Given the description of an element on the screen output the (x, y) to click on. 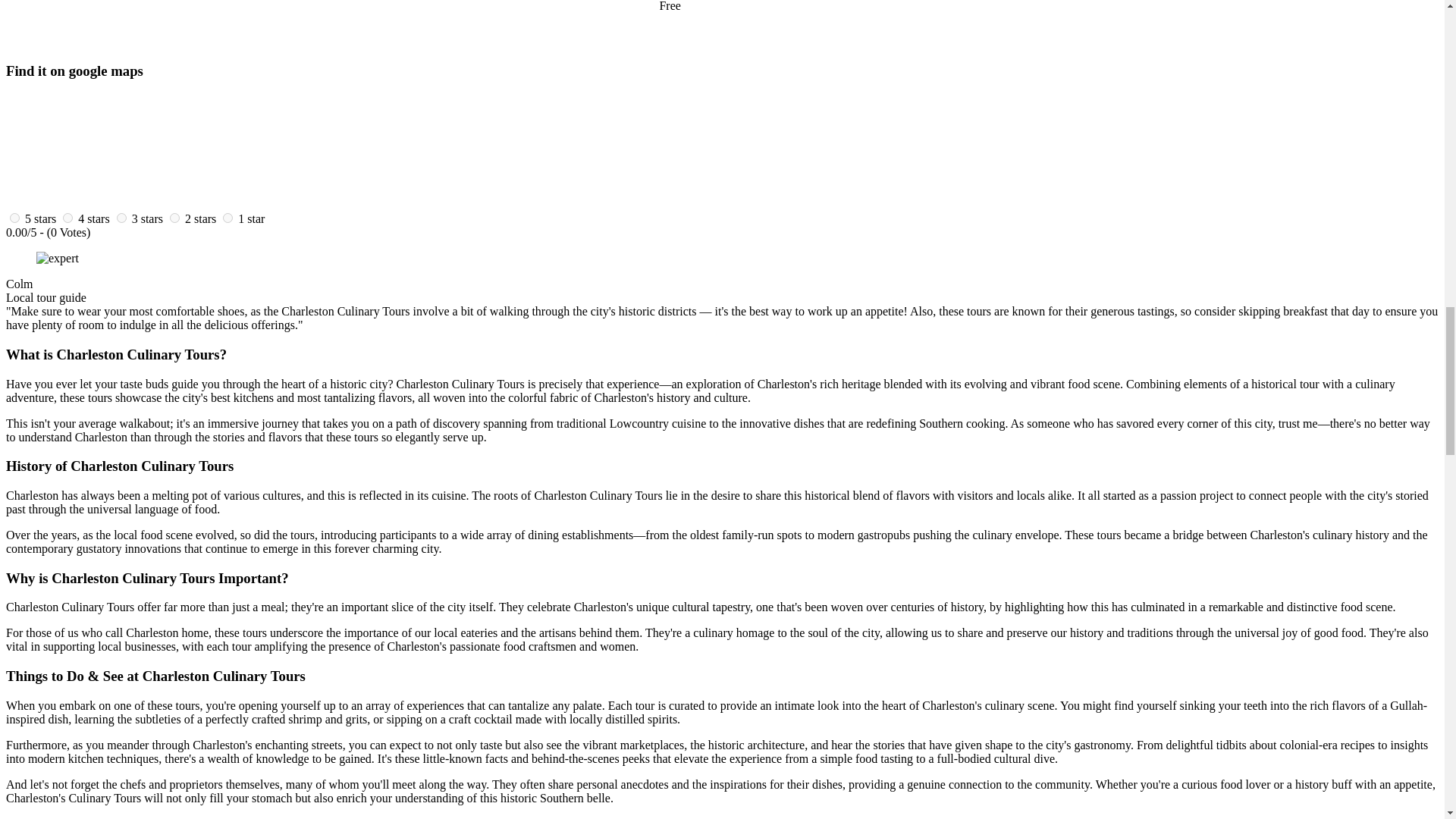
2 (174, 217)
1 stars (251, 218)
5 (15, 217)
4 (67, 217)
5 stars (40, 218)
2 stars (199, 218)
3 stars (147, 218)
3 (121, 217)
1 (227, 217)
4 stars (93, 218)
